Given the description of an element on the screen output the (x, y) to click on. 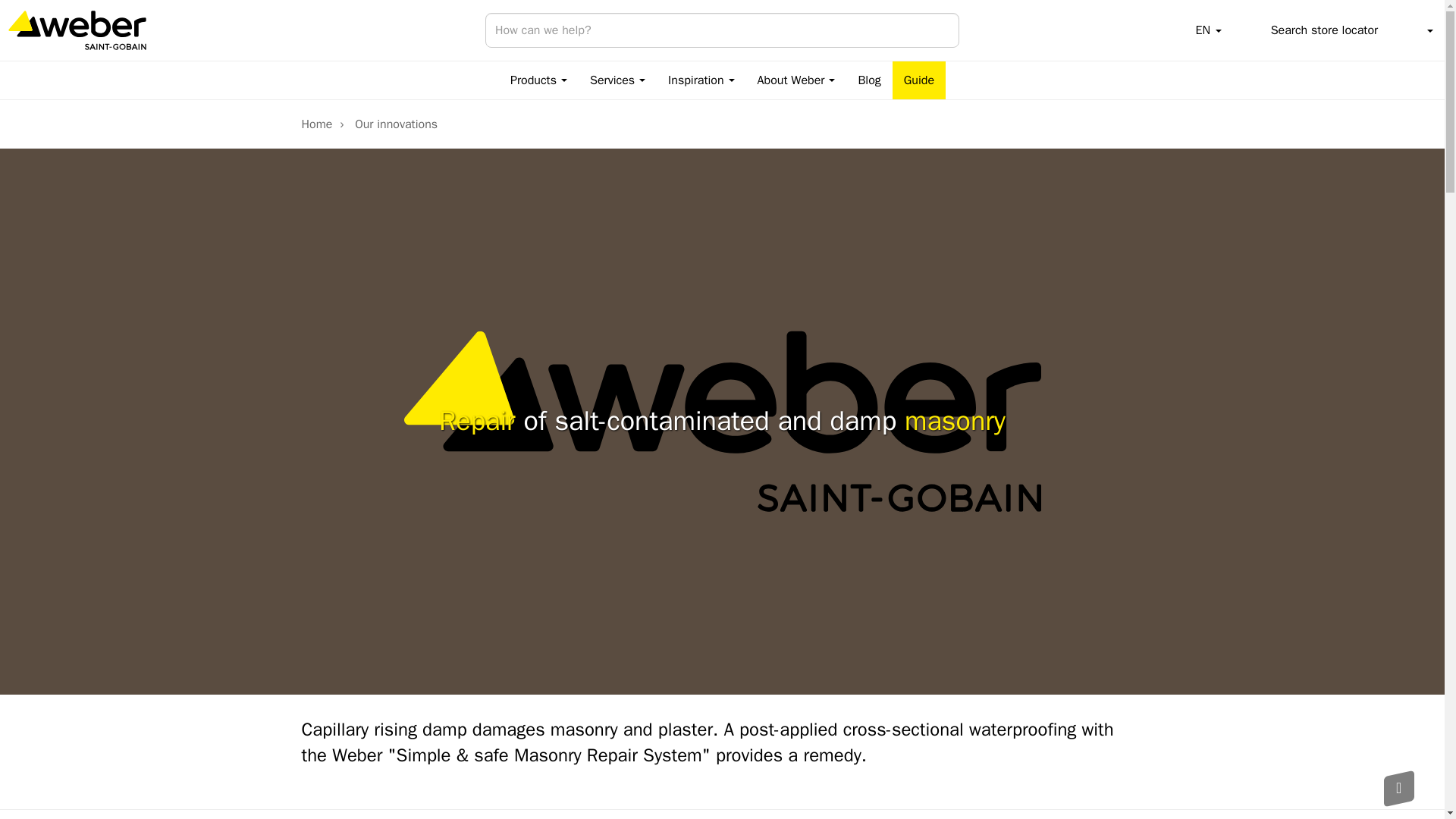
Store locator (1311, 30)
Scroll (1398, 785)
Services (617, 80)
Products (538, 80)
Submit (939, 30)
Inspiration (700, 80)
